Given the description of an element on the screen output the (x, y) to click on. 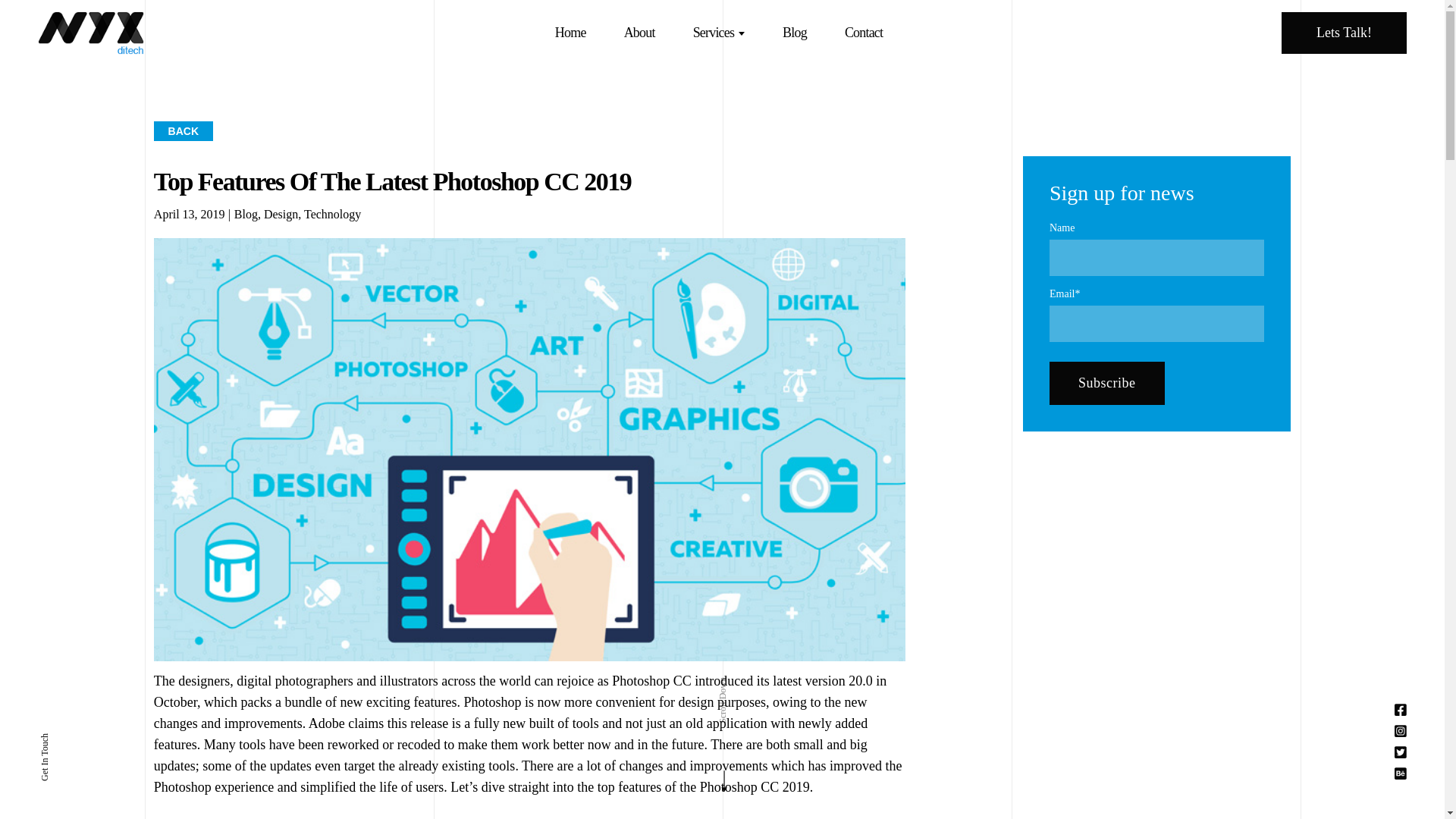
Design (280, 214)
Technology (332, 214)
BACK (183, 130)
Top Features Of The Latest Photoshop CC 2019 (392, 181)
Blog (245, 214)
Subscribe (1106, 382)
Subscribe (1106, 382)
Lets Talk! (1343, 33)
